Given the description of an element on the screen output the (x, y) to click on. 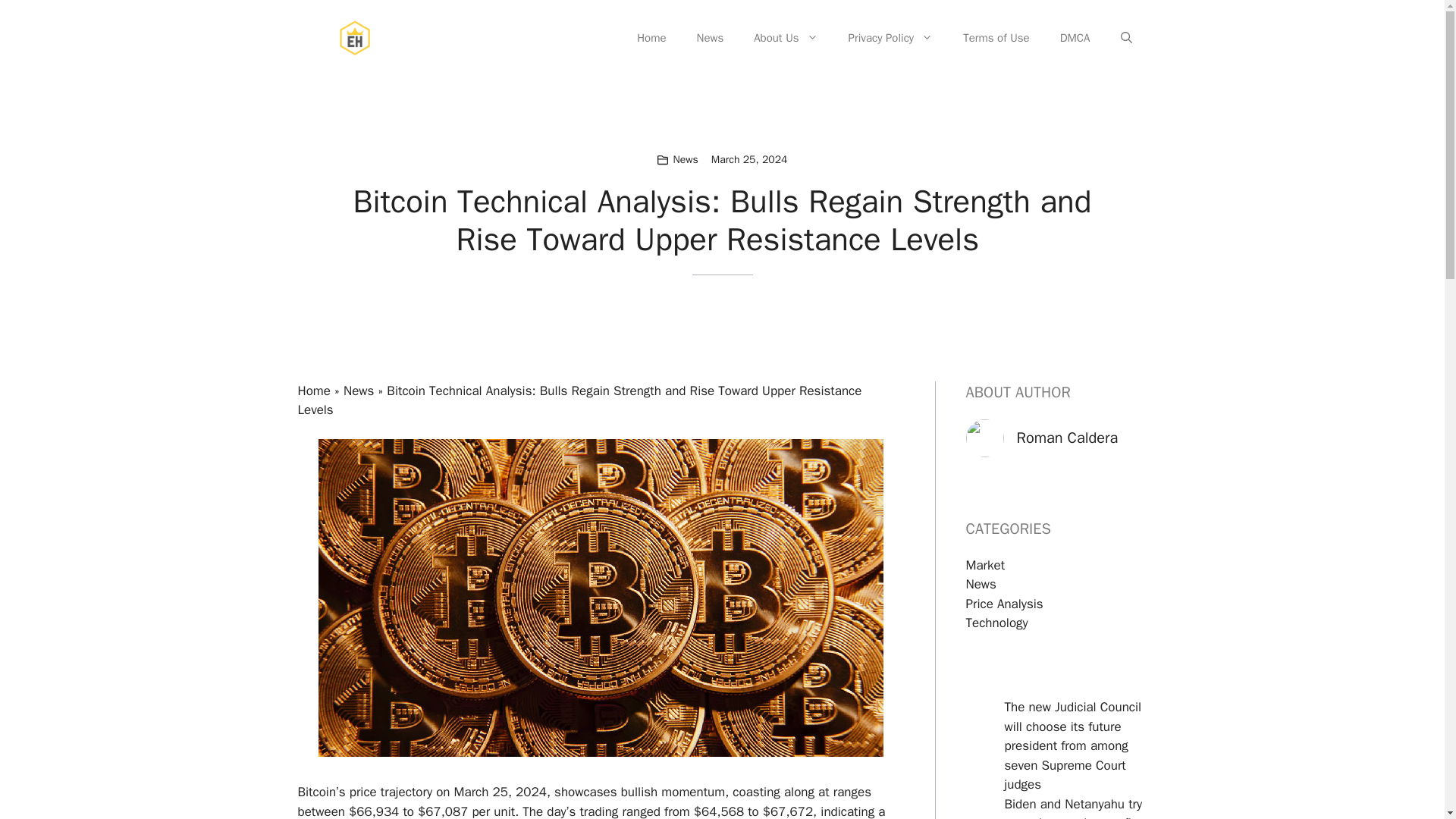
Home (313, 390)
News (980, 584)
Technology (996, 622)
Roman Caldera (1067, 437)
Market (986, 565)
DMCA (1075, 37)
News (358, 390)
News (710, 37)
Privacy Policy (890, 37)
Home (651, 37)
About Us (785, 37)
News (685, 159)
Terms of Use (996, 37)
